Given the description of an element on the screen output the (x, y) to click on. 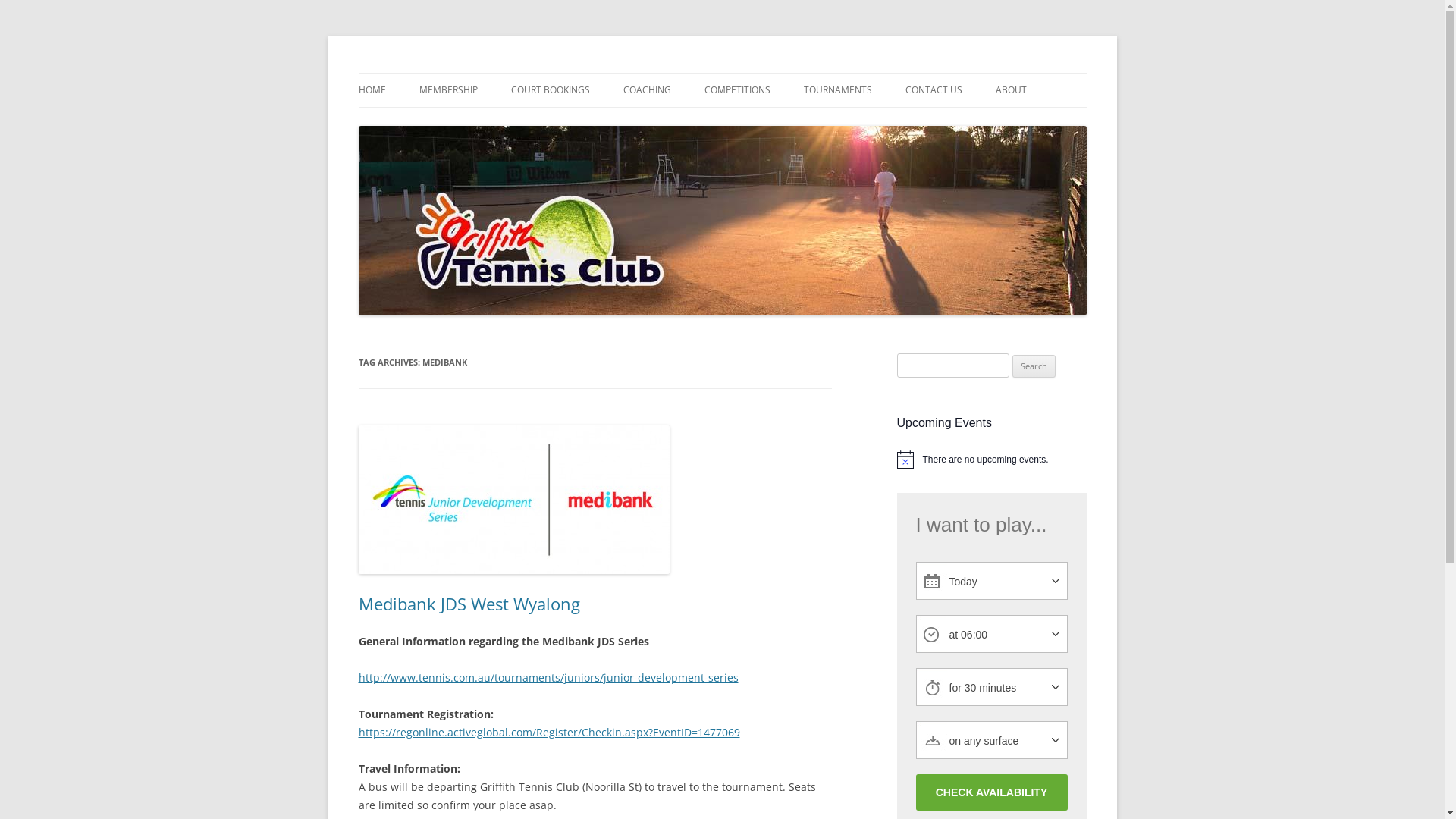
Medibank JDS West Wyalong Element type: text (468, 603)
COURT BOOKINGS Element type: text (550, 89)
Griffith Tennis Club Element type: text (453, 72)
COMPETITIONS Element type: text (736, 89)
TOURNAMENTS Element type: text (837, 89)
ABOUT Element type: text (1010, 89)
Search Element type: text (1033, 365)
Skip to content Element type: text (721, 72)
HOME Element type: text (371, 89)
MEMBERSHIP Element type: text (447, 89)
CONTACT US Element type: text (933, 89)
CHECK AVAILABILITY Element type: text (991, 792)
COACHING Element type: text (647, 89)
